Given the description of an element on the screen output the (x, y) to click on. 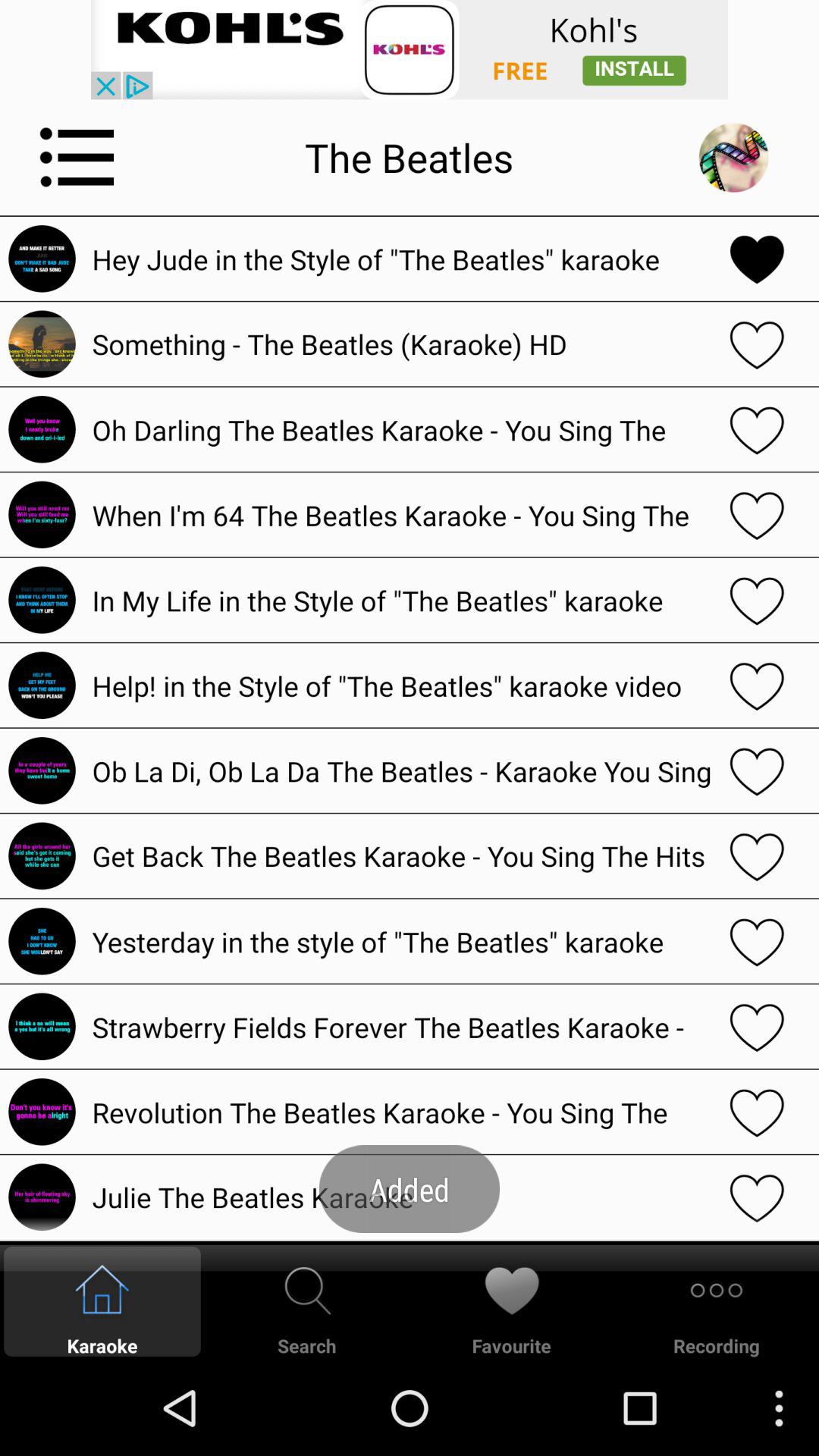
heart emoji (756, 1111)
